Given the description of an element on the screen output the (x, y) to click on. 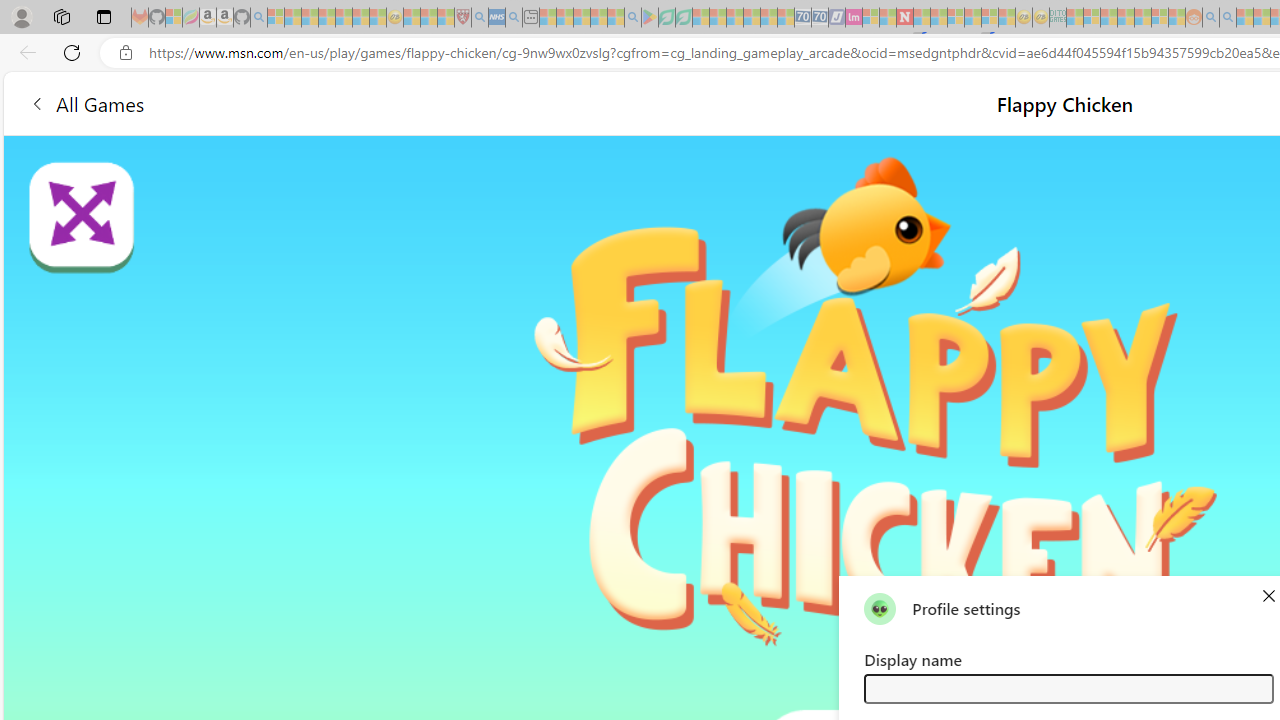
Pets - MSN - Sleeping (598, 17)
Latest Politics News & Archive | Newsweek.com - Sleeping (904, 17)
Local - MSN - Sleeping (445, 17)
